Given the description of an element on the screen output the (x, y) to click on. 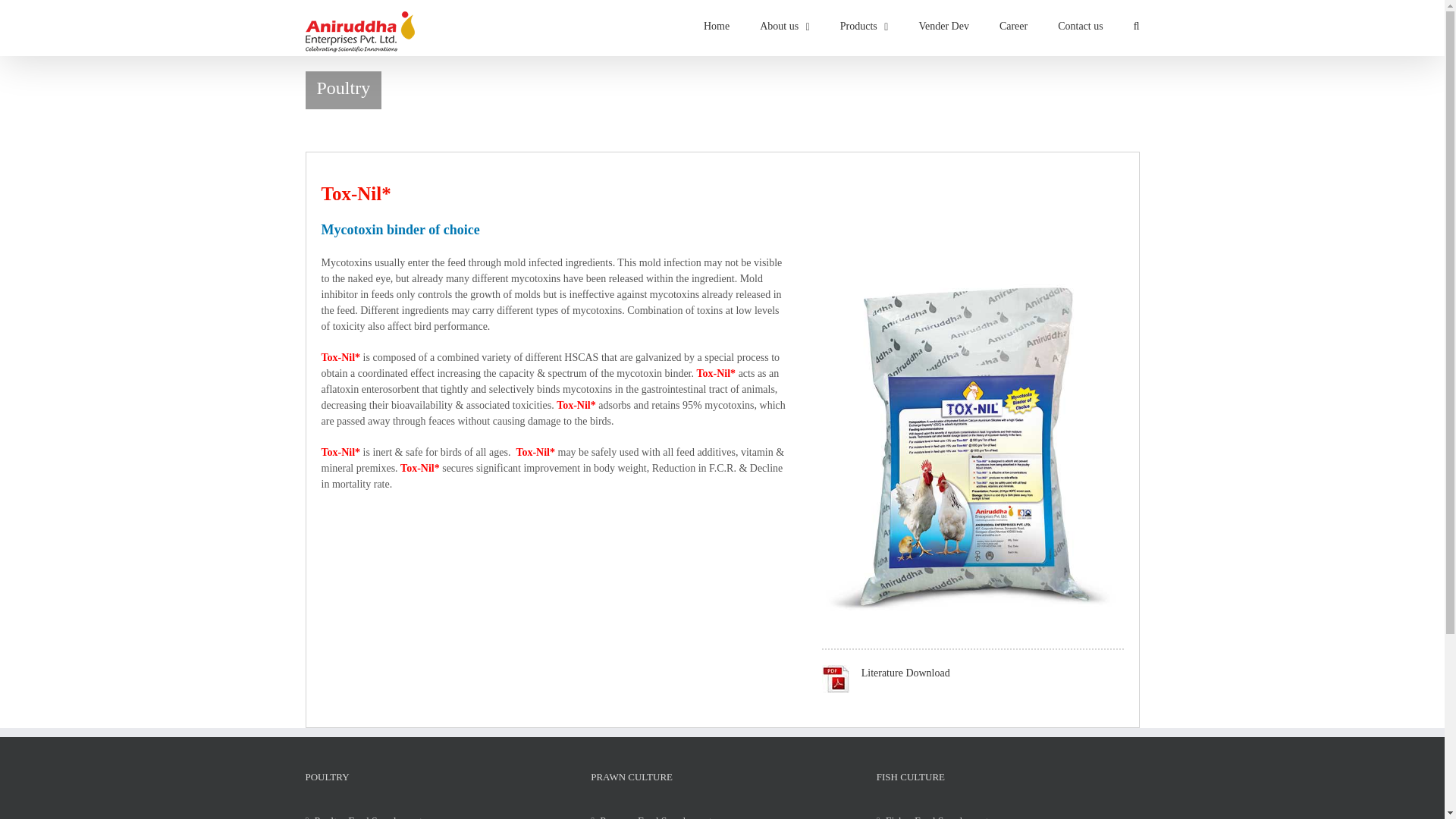
Vender Dev (943, 24)
Contact us (1080, 24)
Products (864, 24)
About us (784, 24)
